Given the description of an element on the screen output the (x, y) to click on. 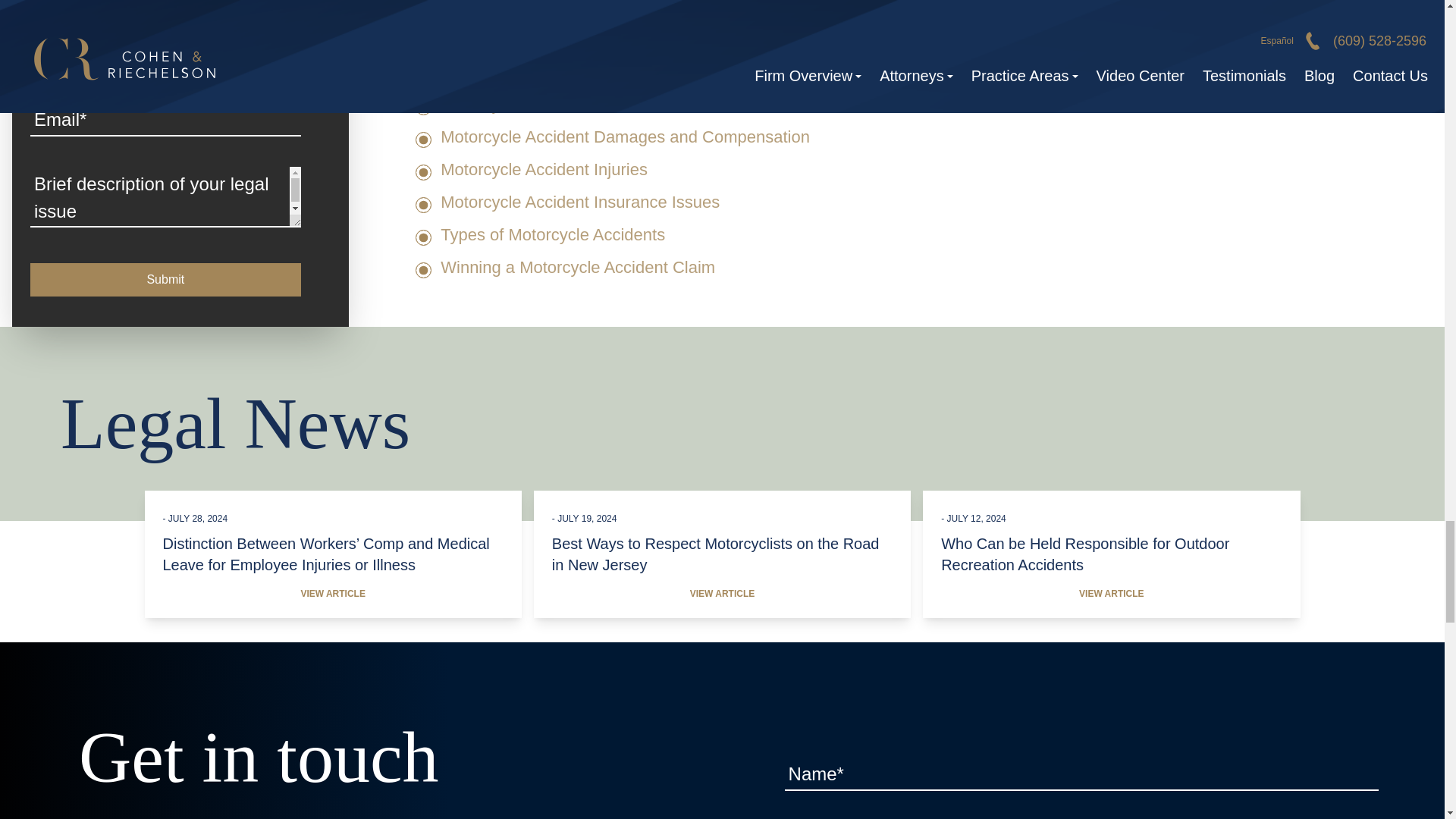
Motorcycle Accident Causes (545, 104)
